Given the description of an element on the screen output the (x, y) to click on. 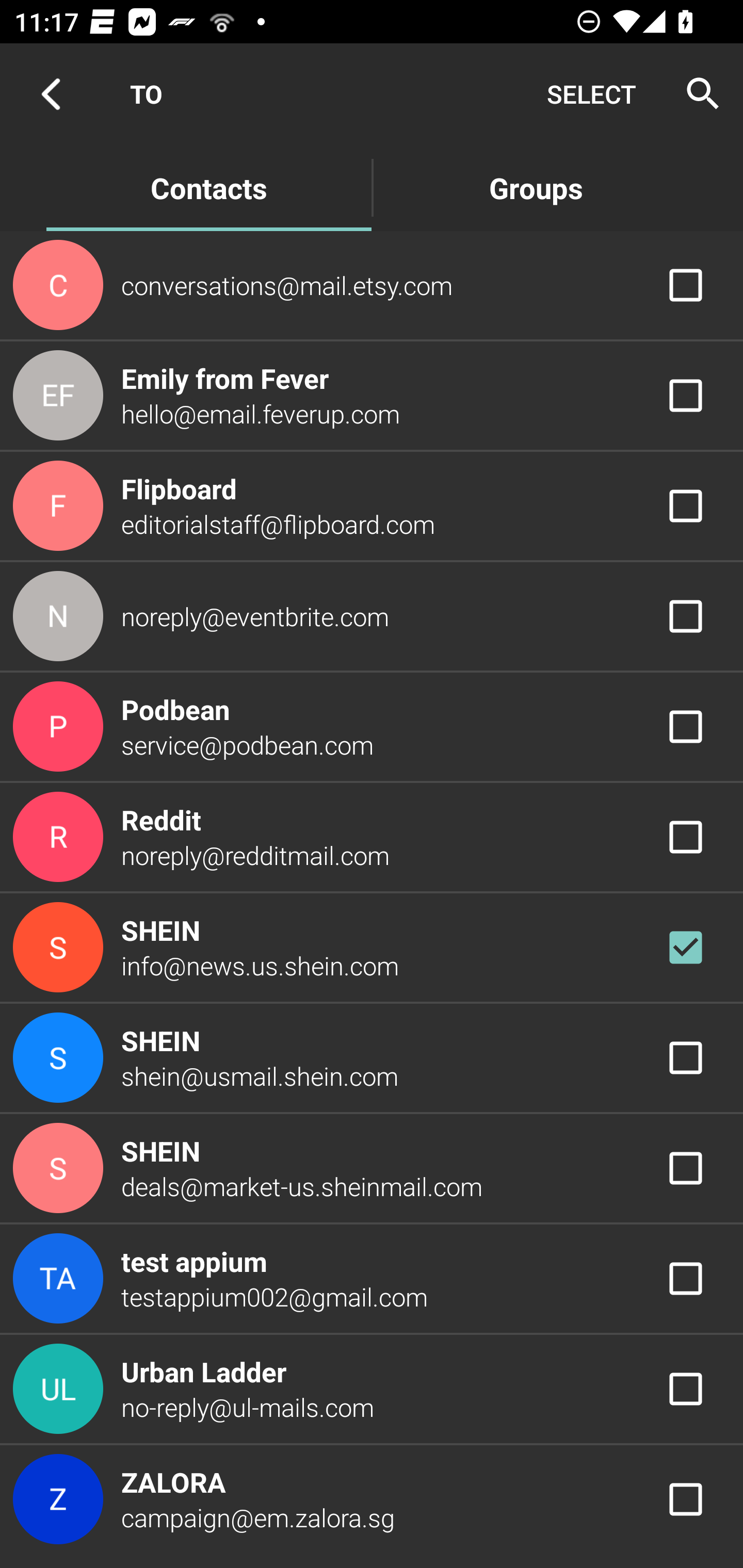
Navigate up (50, 93)
SELECT (590, 93)
Search (696, 93)
Contacts (208, 187)
Groups (535, 187)
conversations@mail.etsy.com (371, 284)
Emily from Fever hello@email.feverup.com (371, 395)
Flipboard editorialstaff@flipboard.com (371, 505)
noreply@eventbrite.com (371, 616)
Podbean service@podbean.com (371, 726)
Reddit noreply@redditmail.com (371, 836)
SHEIN info@news.us.shein.com (371, 947)
SHEIN shein@usmail.shein.com (371, 1057)
SHEIN deals@market-us.sheinmail.com (371, 1168)
test appium testappium002@gmail.com (371, 1278)
Urban Ladder no-reply@ul-mails.com (371, 1388)
ZALORA campaign@em.zalora.sg (371, 1499)
